Given the description of an element on the screen output the (x, y) to click on. 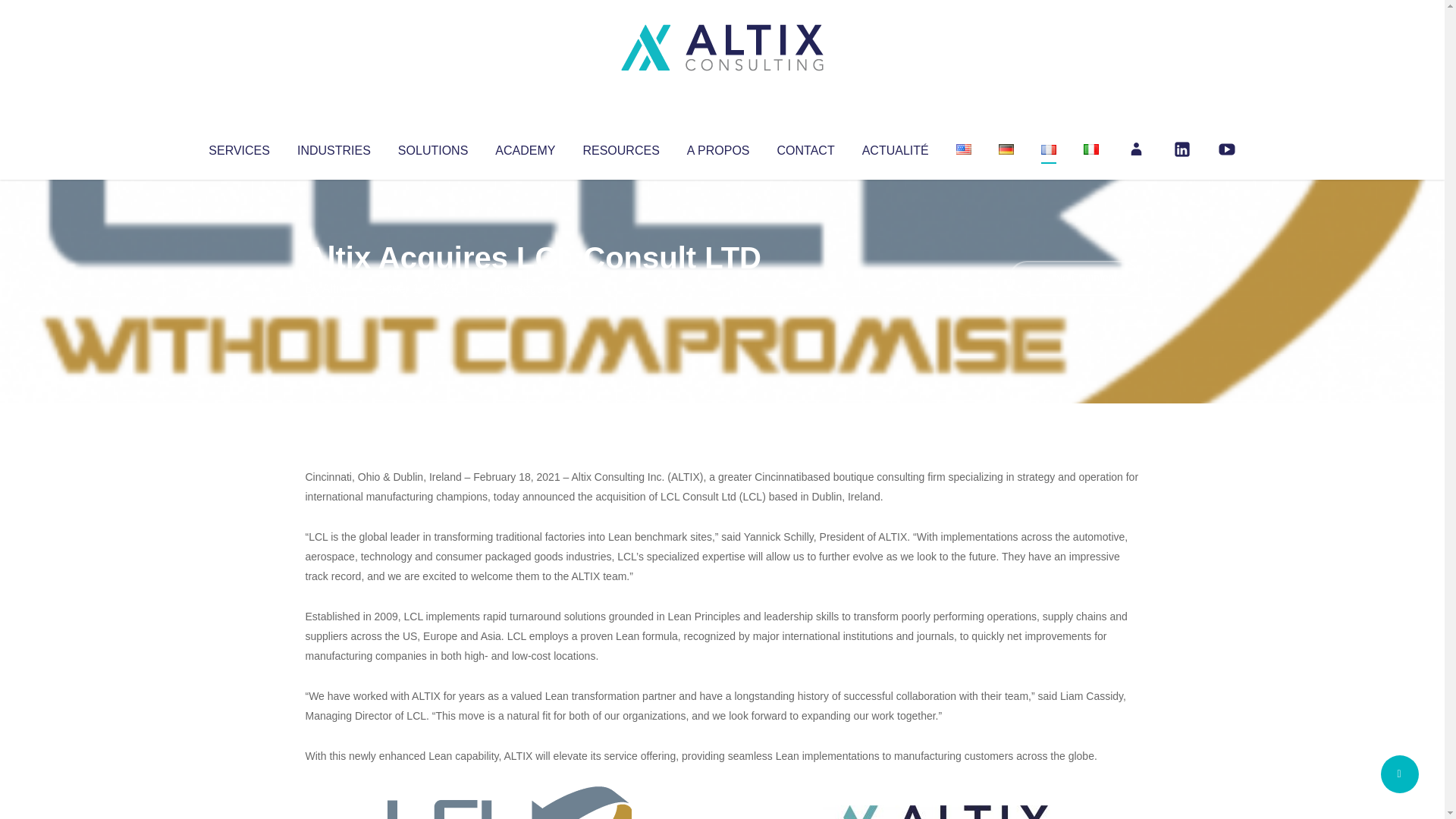
Uncategorized (530, 287)
SOLUTIONS (432, 146)
RESOURCES (620, 146)
No Comments (1073, 278)
SERVICES (238, 146)
A PROPOS (718, 146)
Altix (333, 287)
ACADEMY (524, 146)
INDUSTRIES (334, 146)
Articles par Altix (333, 287)
